Given the description of an element on the screen output the (x, y) to click on. 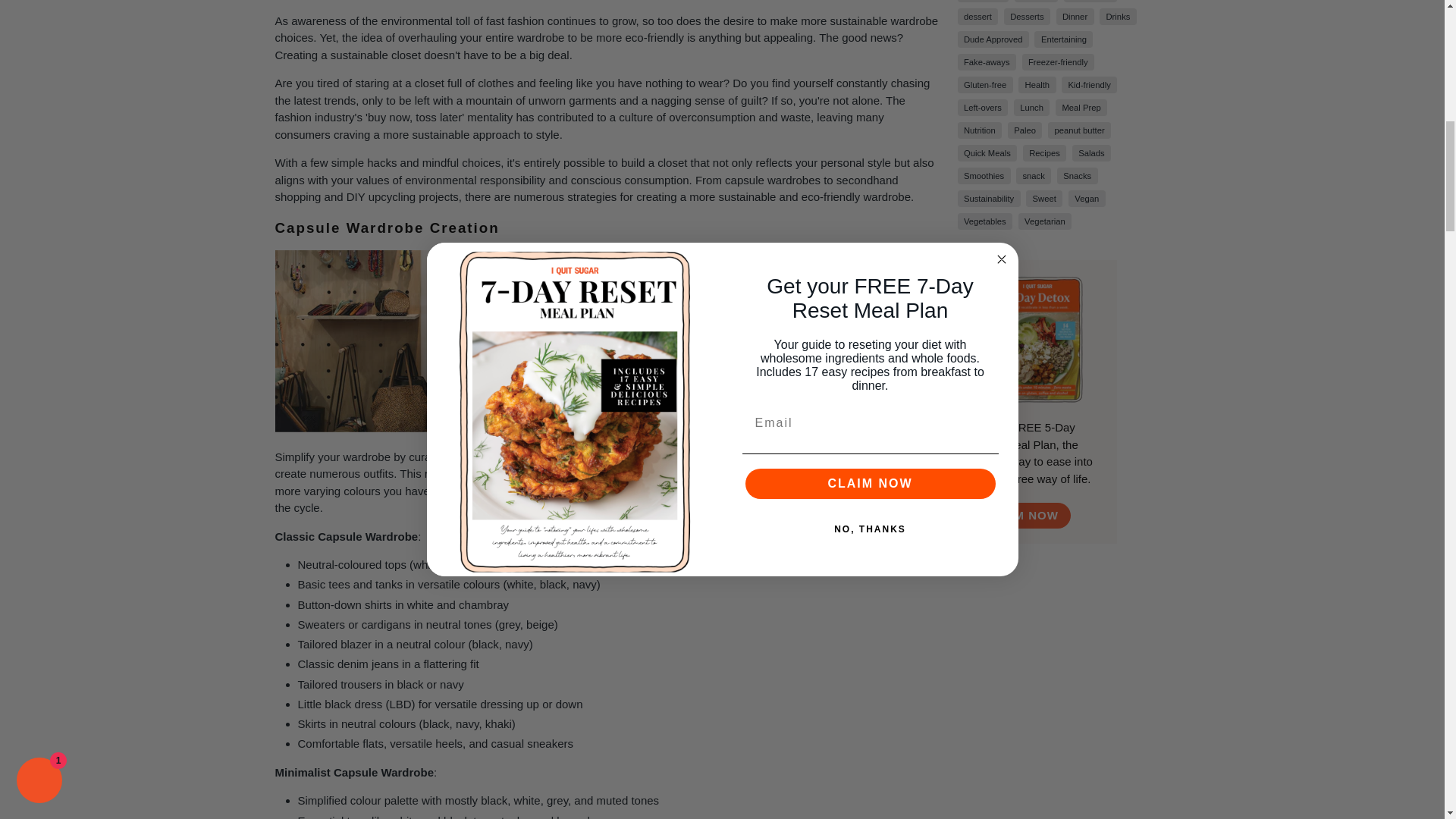
Articles tagged Dinner (1074, 16)
Articles tagged dessert (977, 16)
Articles tagged Desserts (1026, 16)
Articles tagged Drinks (1117, 16)
